Given the description of an element on the screen output the (x, y) to click on. 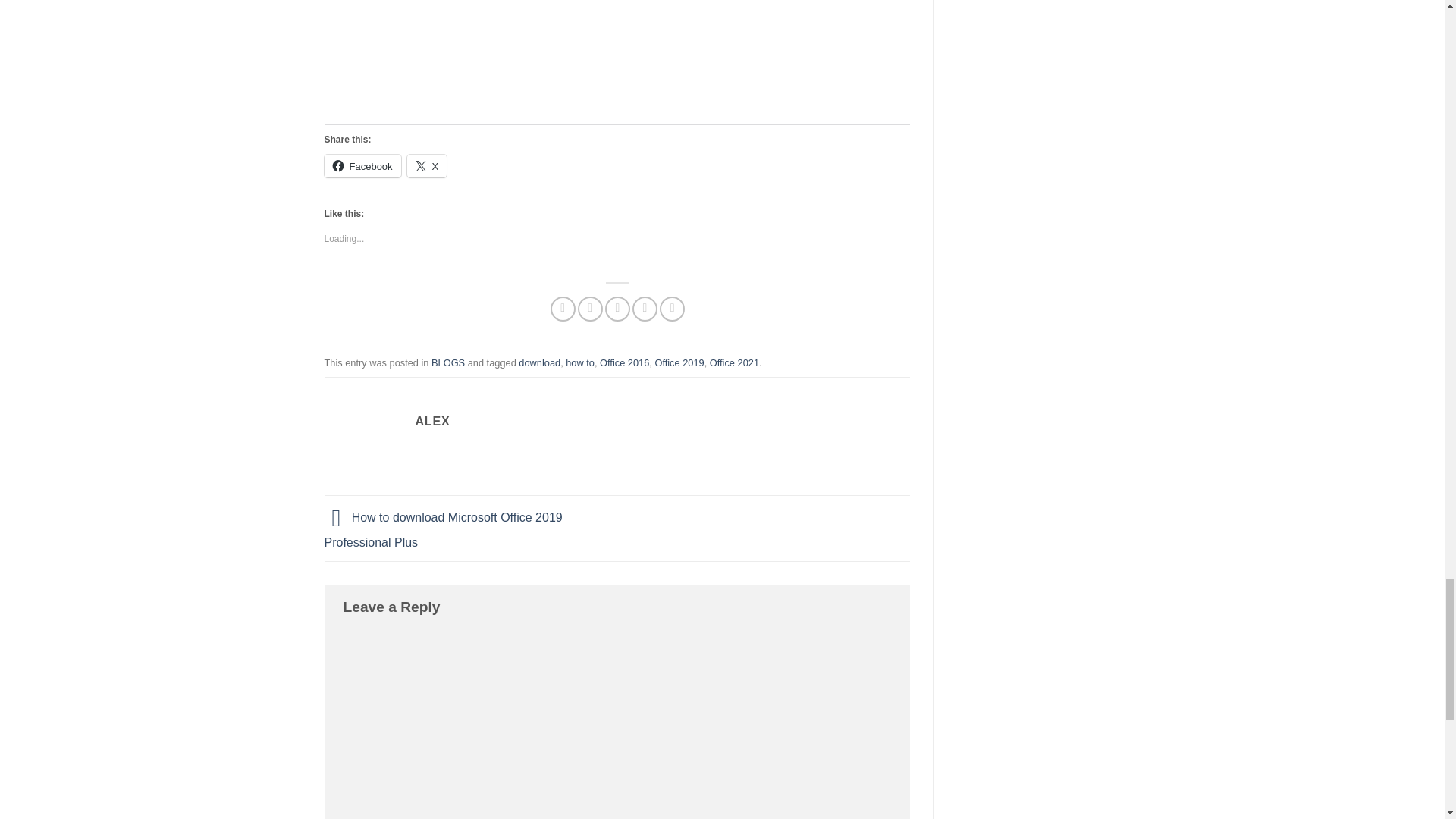
Share on Facebook (562, 308)
Comment Form (616, 722)
Click to share on X (426, 165)
Pin on Pinterest (644, 308)
Email to a Friend (617, 308)
Share on Twitter (590, 308)
Share on LinkedIn (671, 308)
Click to share on Facebook (362, 165)
